Given the description of an element on the screen output the (x, y) to click on. 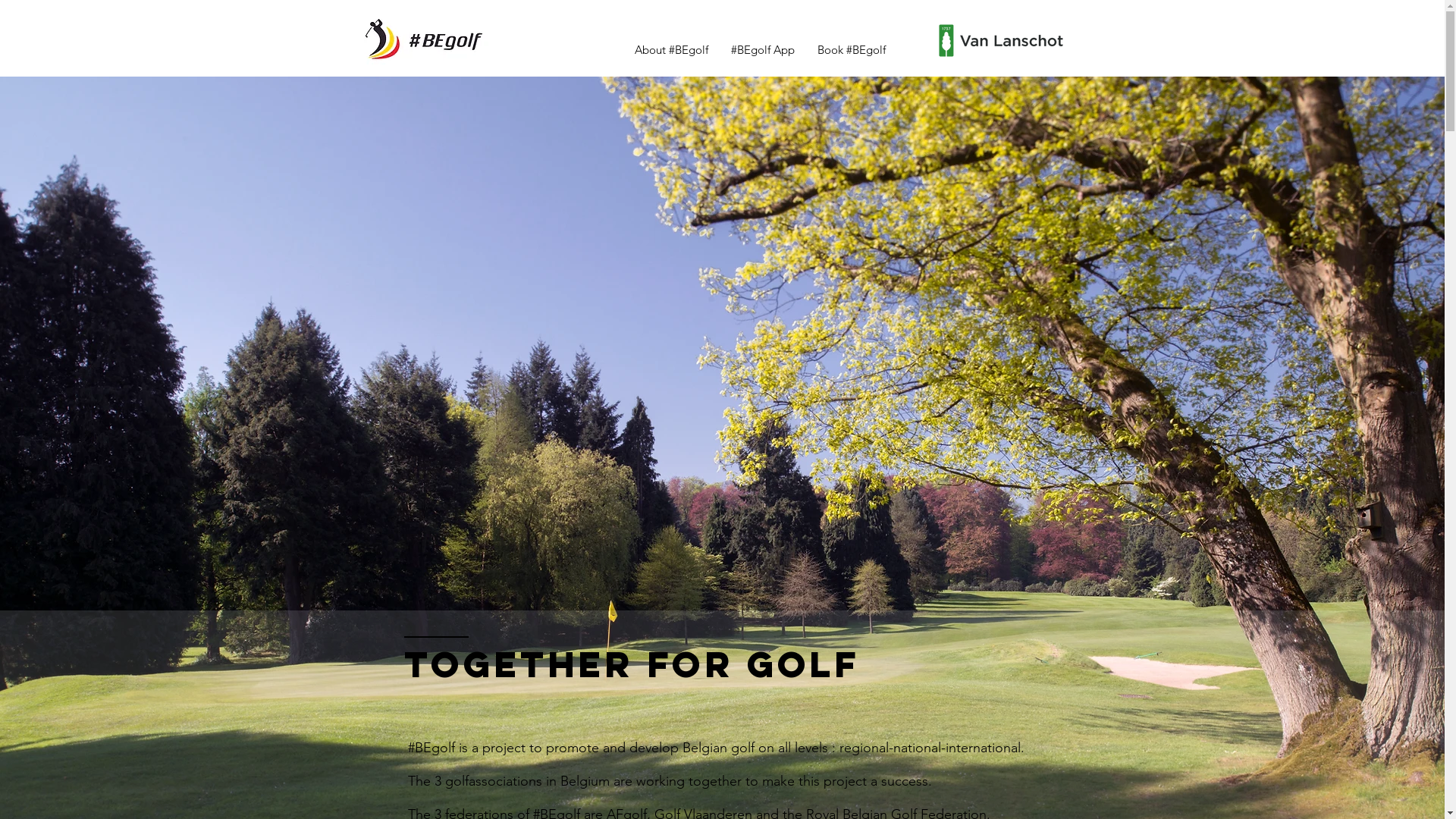
About #BEgolf Element type: text (671, 50)
Book #BEgolf Element type: text (850, 50)
#BEgolf App Element type: text (761, 50)
